Given the description of an element on the screen output the (x, y) to click on. 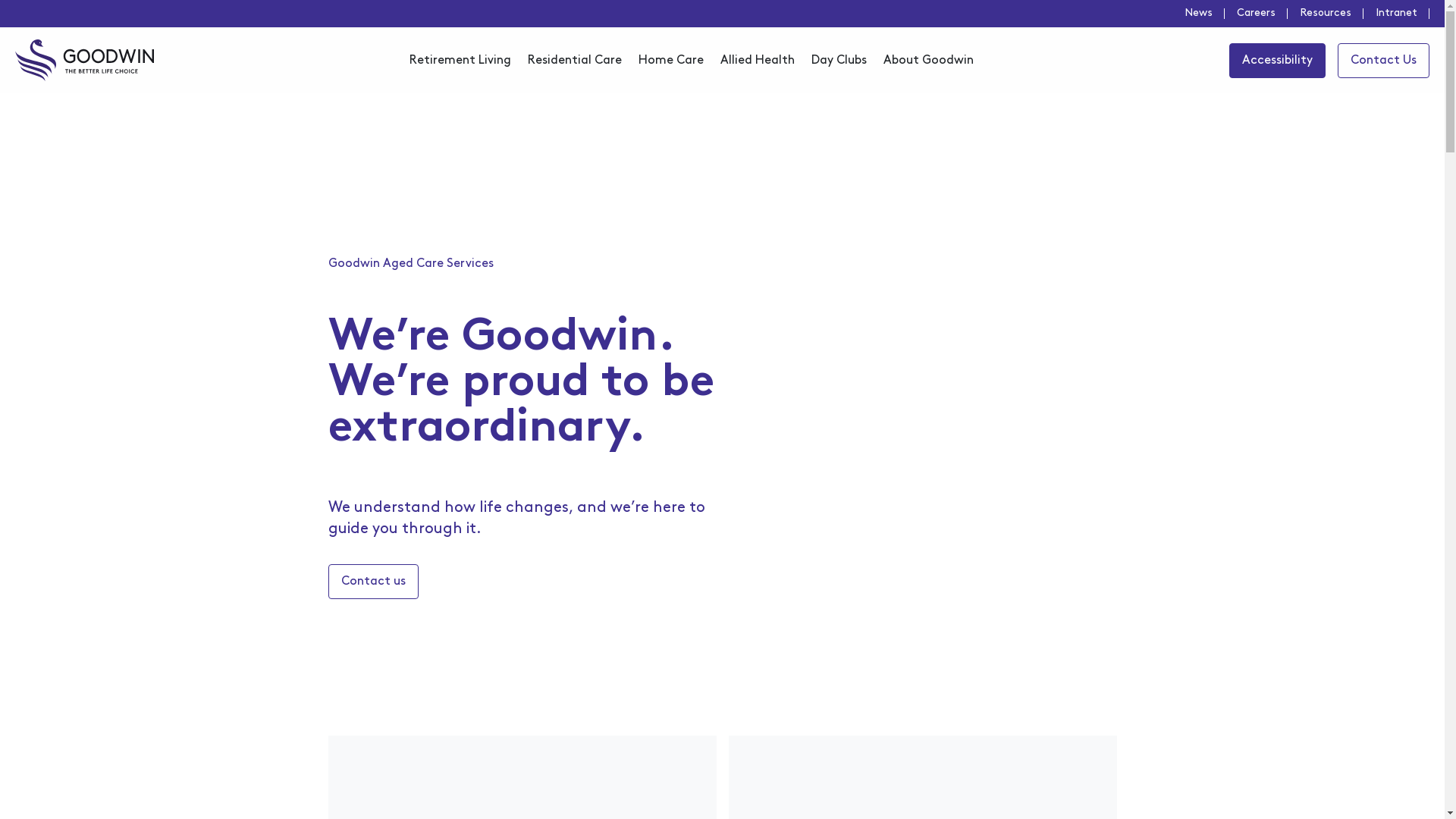
News Element type: text (1204, 12)
Contact us Element type: text (372, 581)
About Goodwin Element type: text (928, 60)
Home Care Element type: text (670, 60)
Resources Element type: text (1331, 12)
Day Clubs Element type: text (838, 60)
Intranet Element type: text (1402, 12)
Careers Element type: text (1261, 12)
Retirement Living Element type: text (460, 60)
Contact Us Element type: text (1383, 59)
Accessibility Element type: text (1277, 59)
Residential Care Element type: text (574, 60)
Allied Health Element type: text (757, 60)
